Given the description of an element on the screen output the (x, y) to click on. 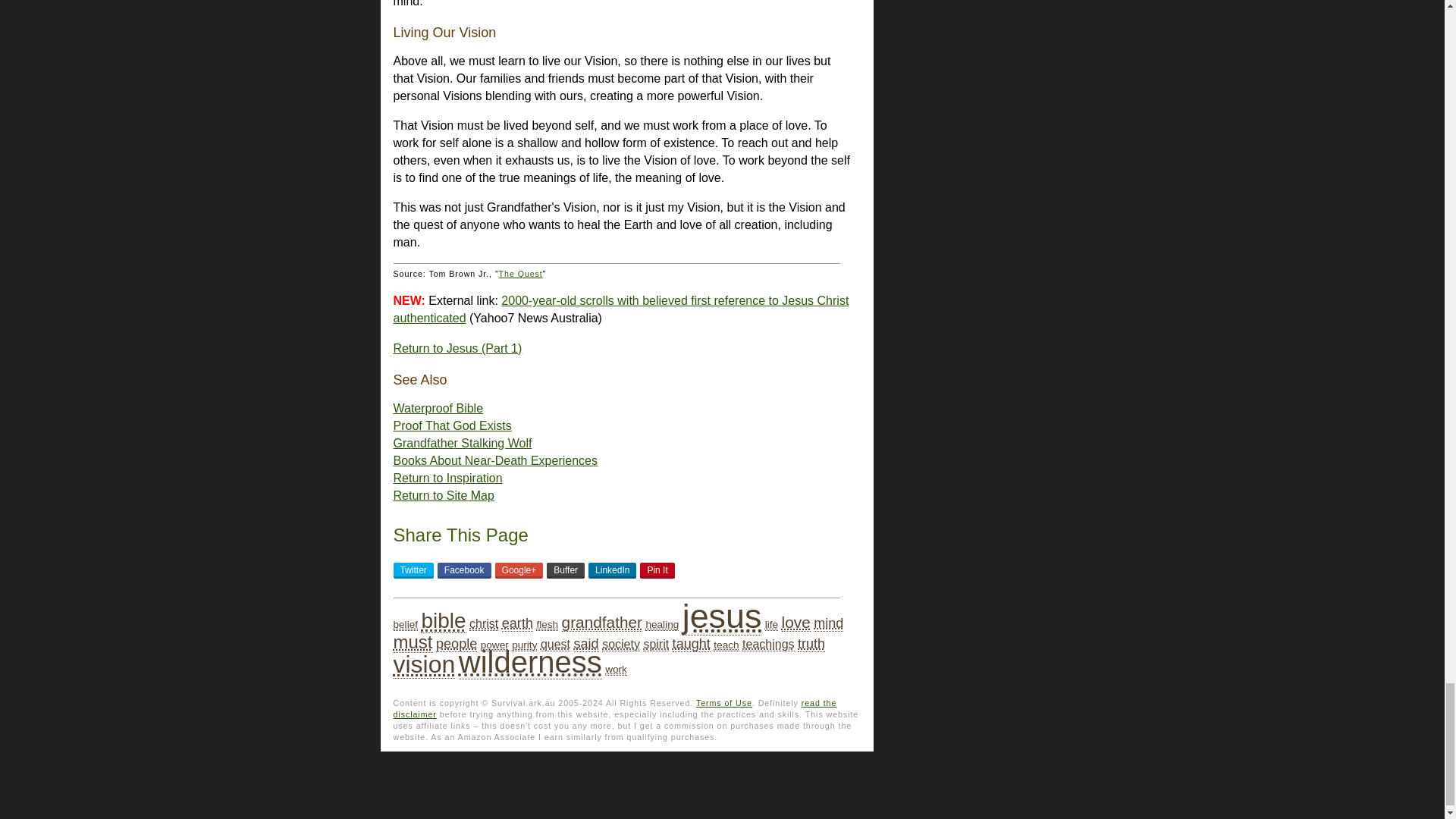
Buffer (566, 570)
Grandfather Stalking Wolf (462, 442)
flesh (546, 624)
Twitter (412, 570)
jesus (721, 615)
Return to Inspiration (447, 477)
bible (442, 620)
belief (405, 624)
Books About Near-Death Experiences (494, 460)
